Given the description of an element on the screen output the (x, y) to click on. 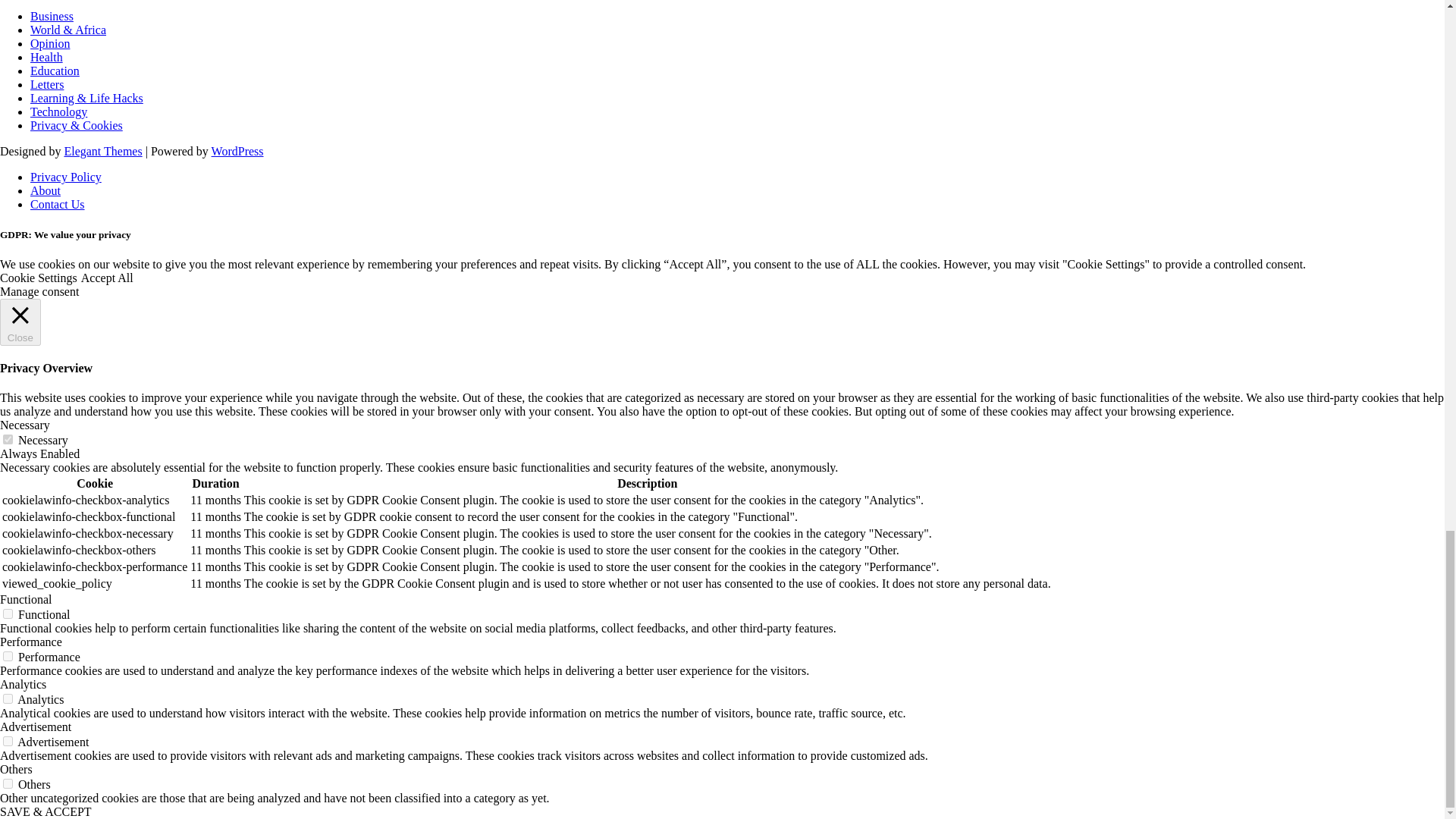
on (7, 741)
on (7, 698)
on (7, 614)
on (7, 439)
on (7, 783)
on (7, 655)
